Given the description of an element on the screen output the (x, y) to click on. 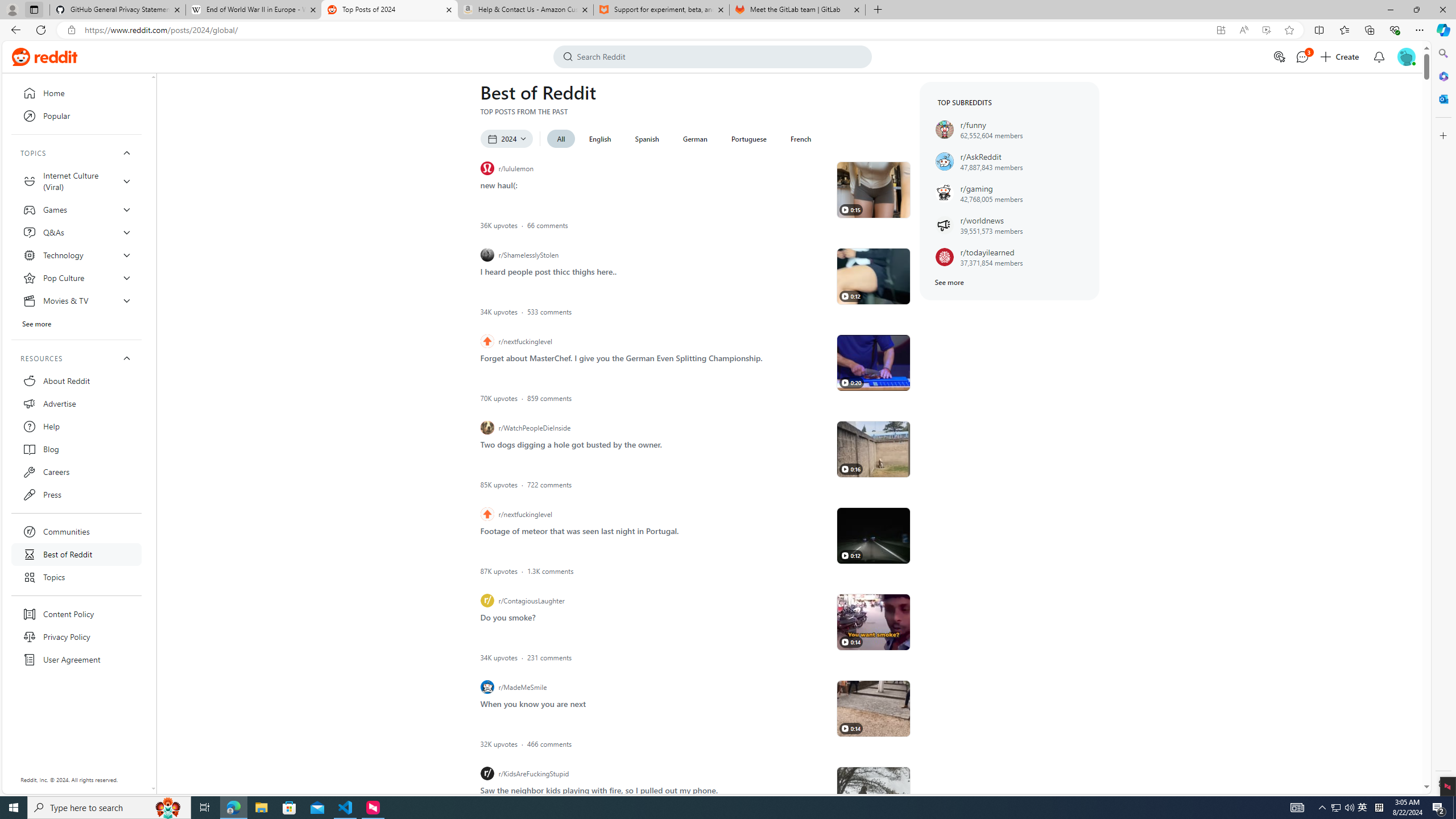
Class: h-[22px] (55, 56)
French (800, 138)
List item post - When you know you are next (533, 702)
Class: h-[12px] w-[12px] shrink-0 (844, 728)
r/ContagiousLaughter (654, 600)
r/WatchPeopleDieInside icon (486, 427)
r/lululemon (654, 168)
r/AskReddit icon (943, 161)
